Given the description of an element on the screen output the (x, y) to click on. 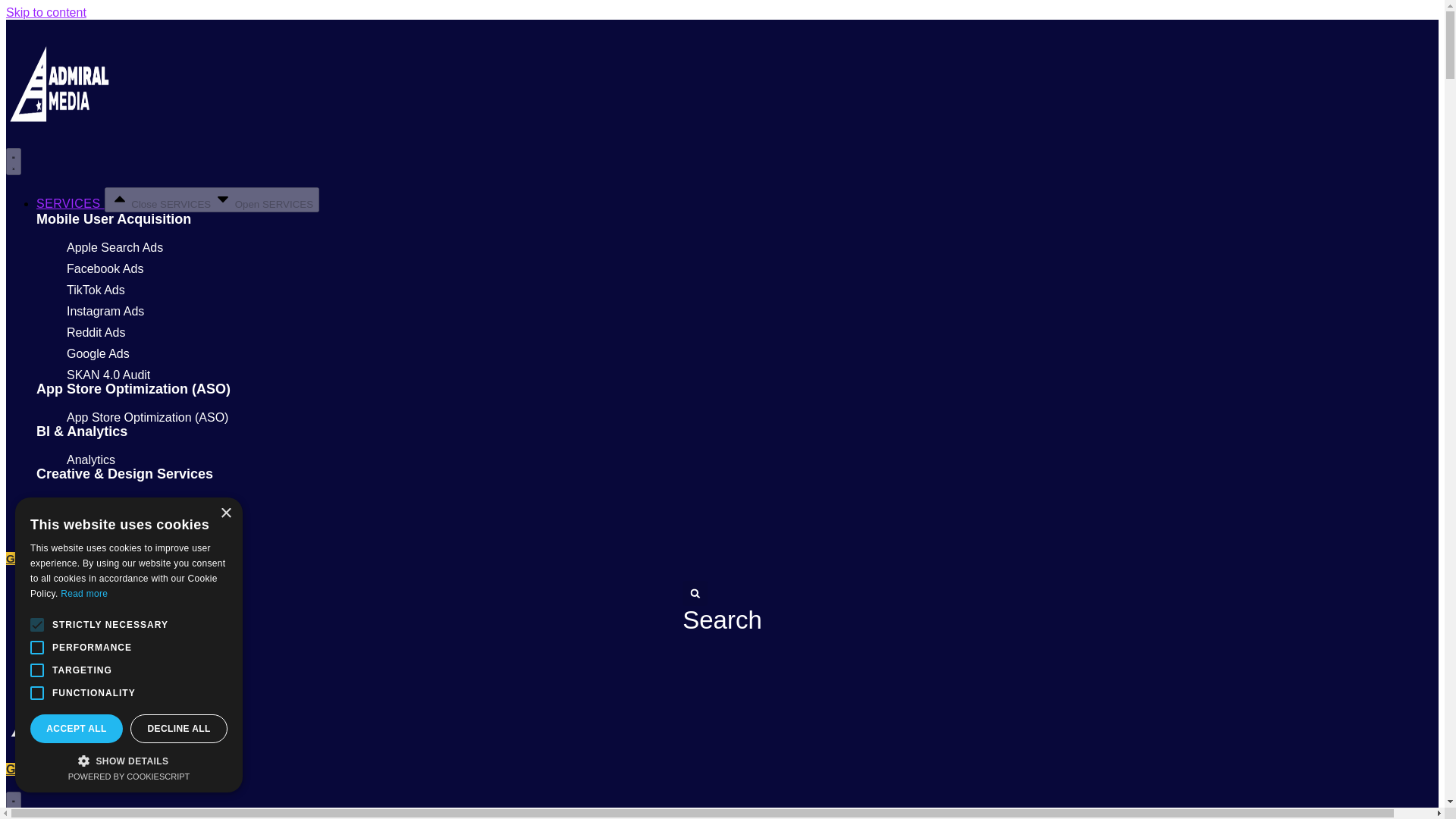
Apple Search Ads (114, 246)
TikTok Ads (95, 289)
Consent Management Platform (129, 776)
Reddit Ads (95, 332)
Facebook Ads (104, 268)
Close SERVICES Open SERVICES (212, 199)
SERVICES (70, 203)
SKAN 4.0 Audit (107, 374)
Get in touch (41, 768)
Google Ads (97, 353)
Skip to content (45, 11)
Get in touch (38, 558)
COMPANY (67, 529)
Instagram Ads (105, 310)
Analytics (90, 459)
